Given the description of an element on the screen output the (x, y) to click on. 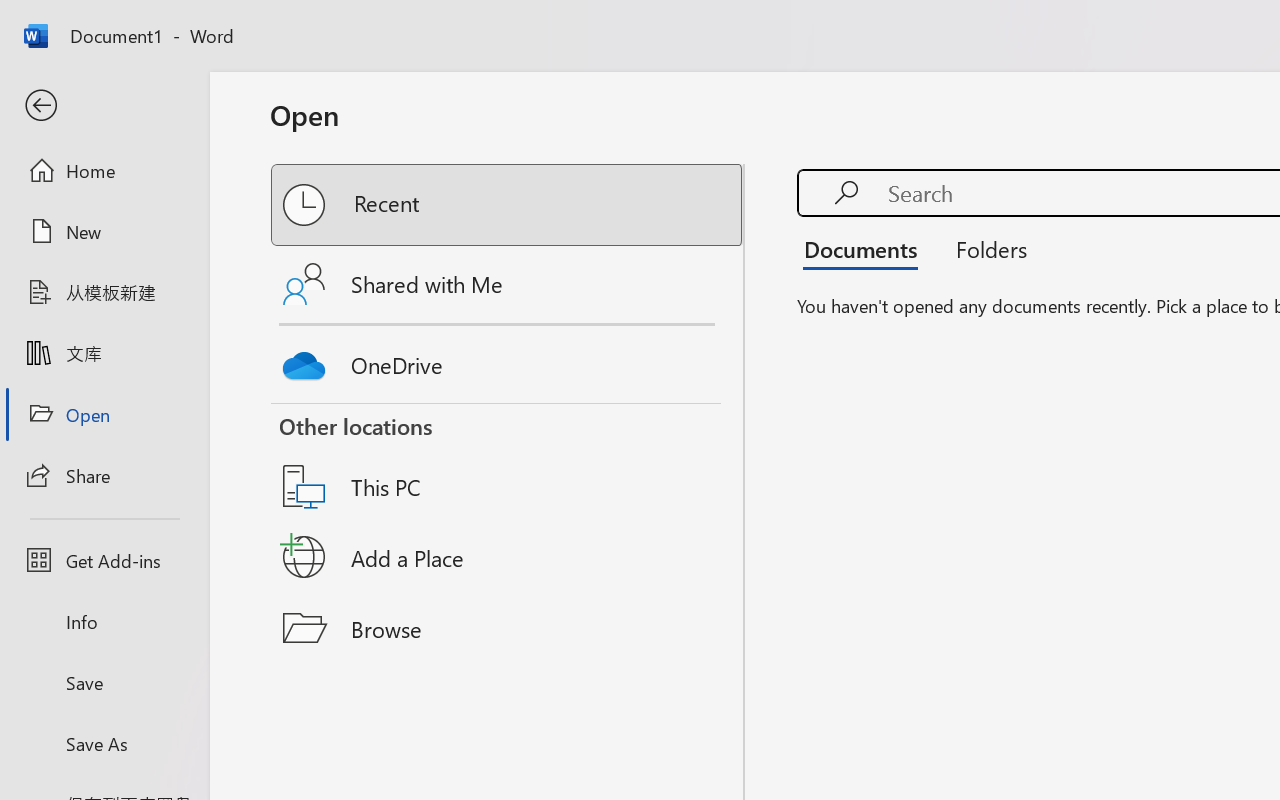
Recent (507, 205)
OneDrive (507, 359)
Back (104, 106)
